Given the description of an element on the screen output the (x, y) to click on. 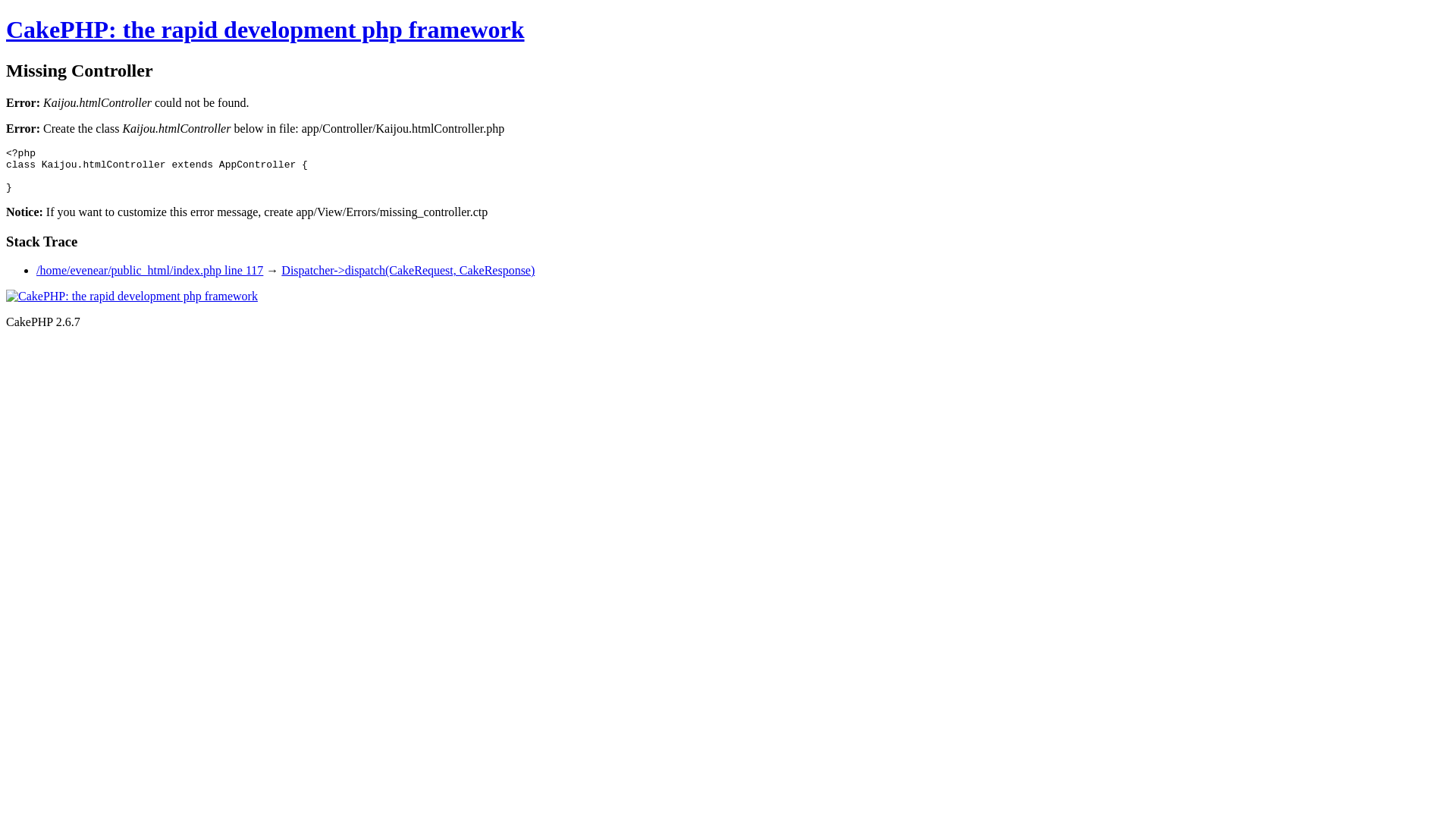
Dispatcher->dispatch(CakeRequest, CakeResponse) Element type: text (407, 269)
CakePHP: the rapid development php framework Element type: text (265, 29)
/home/evenear/public_html/index.php line 117 Element type: text (149, 269)
